Given the description of an element on the screen output the (x, y) to click on. 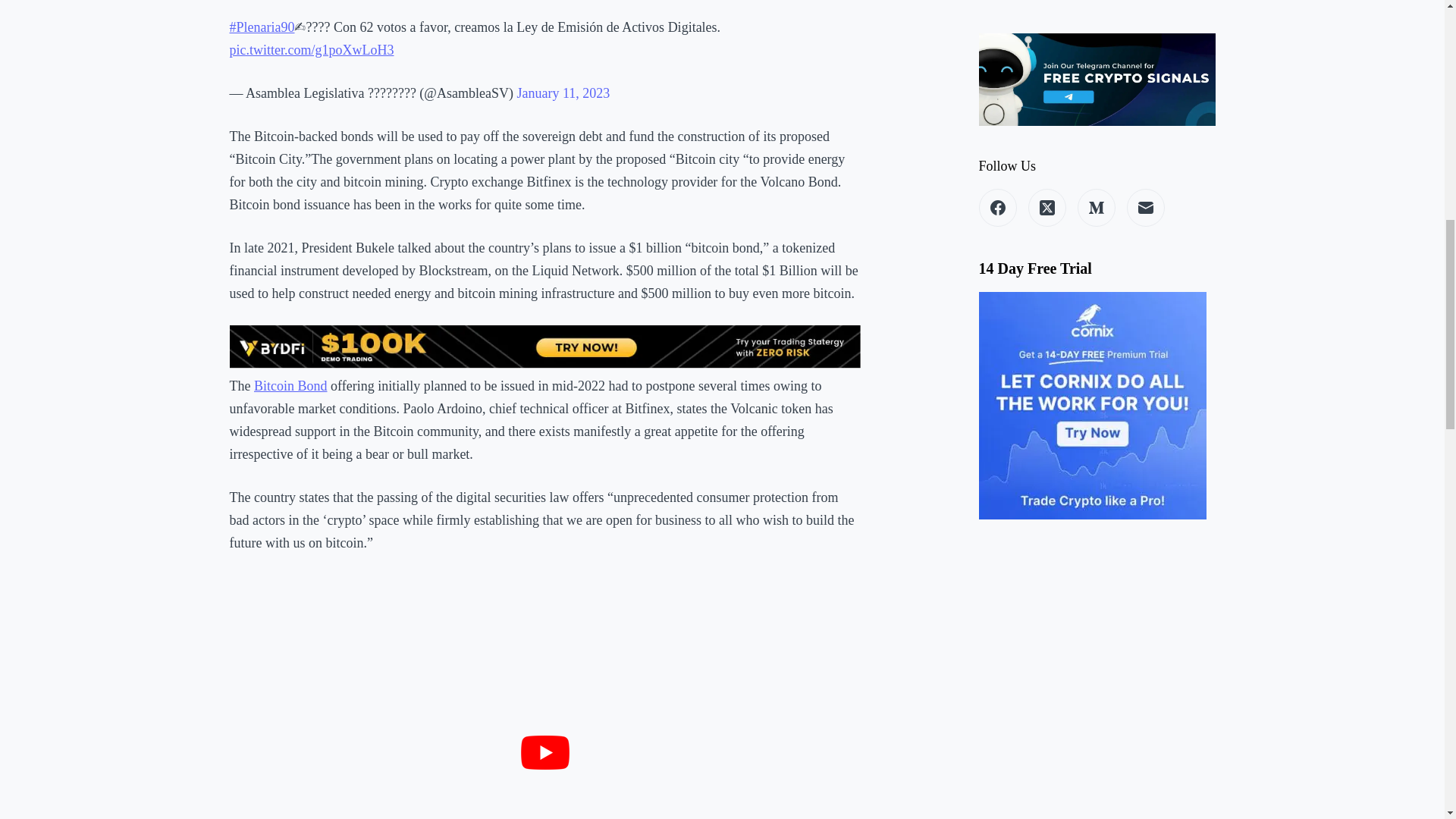
inline ads (544, 345)
